Given the description of an element on the screen output the (x, y) to click on. 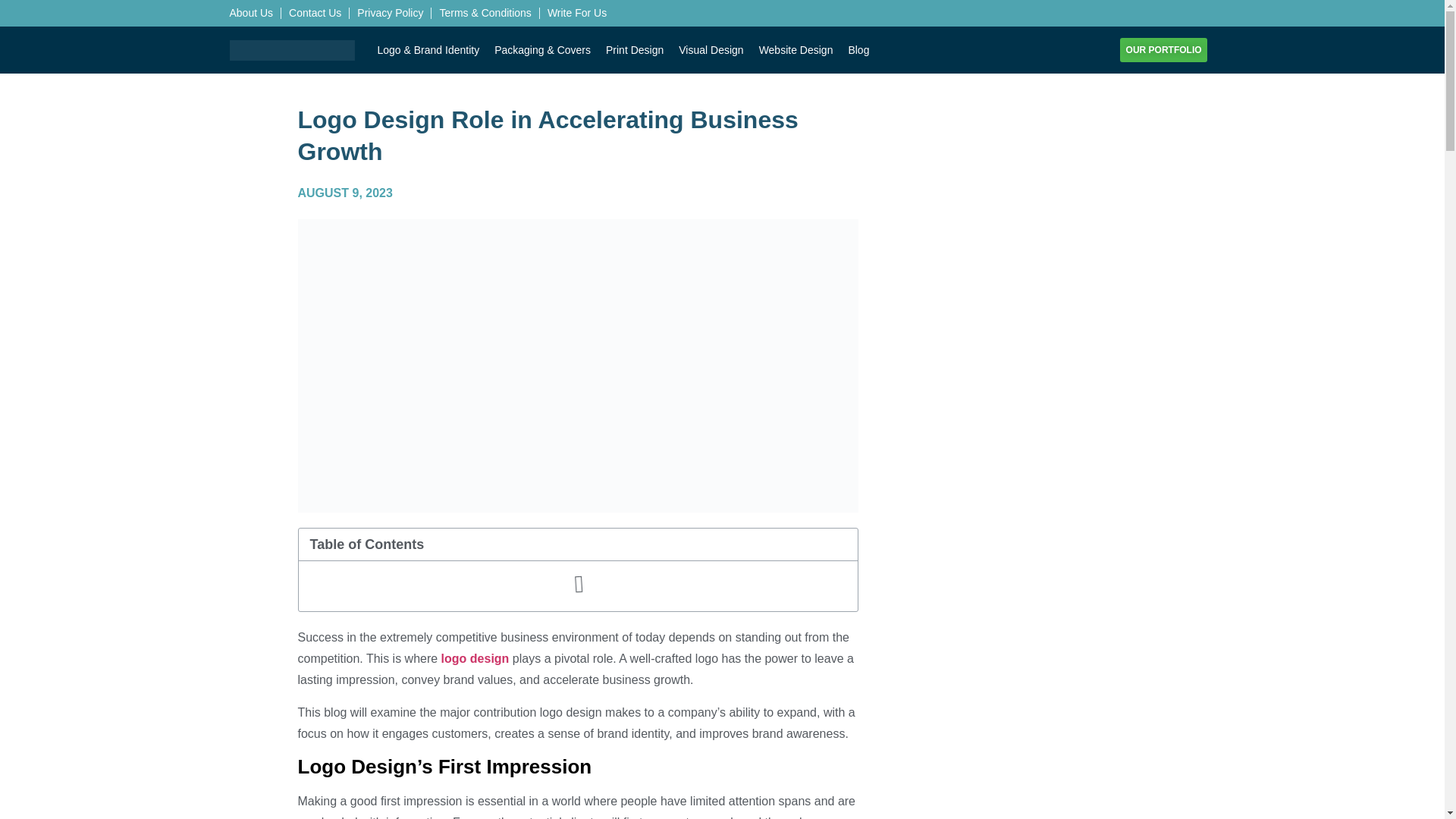
Privacy Policy (389, 12)
Write For Us (577, 12)
Contact Us (314, 12)
About Us (250, 12)
